Given the description of an element on the screen output the (x, y) to click on. 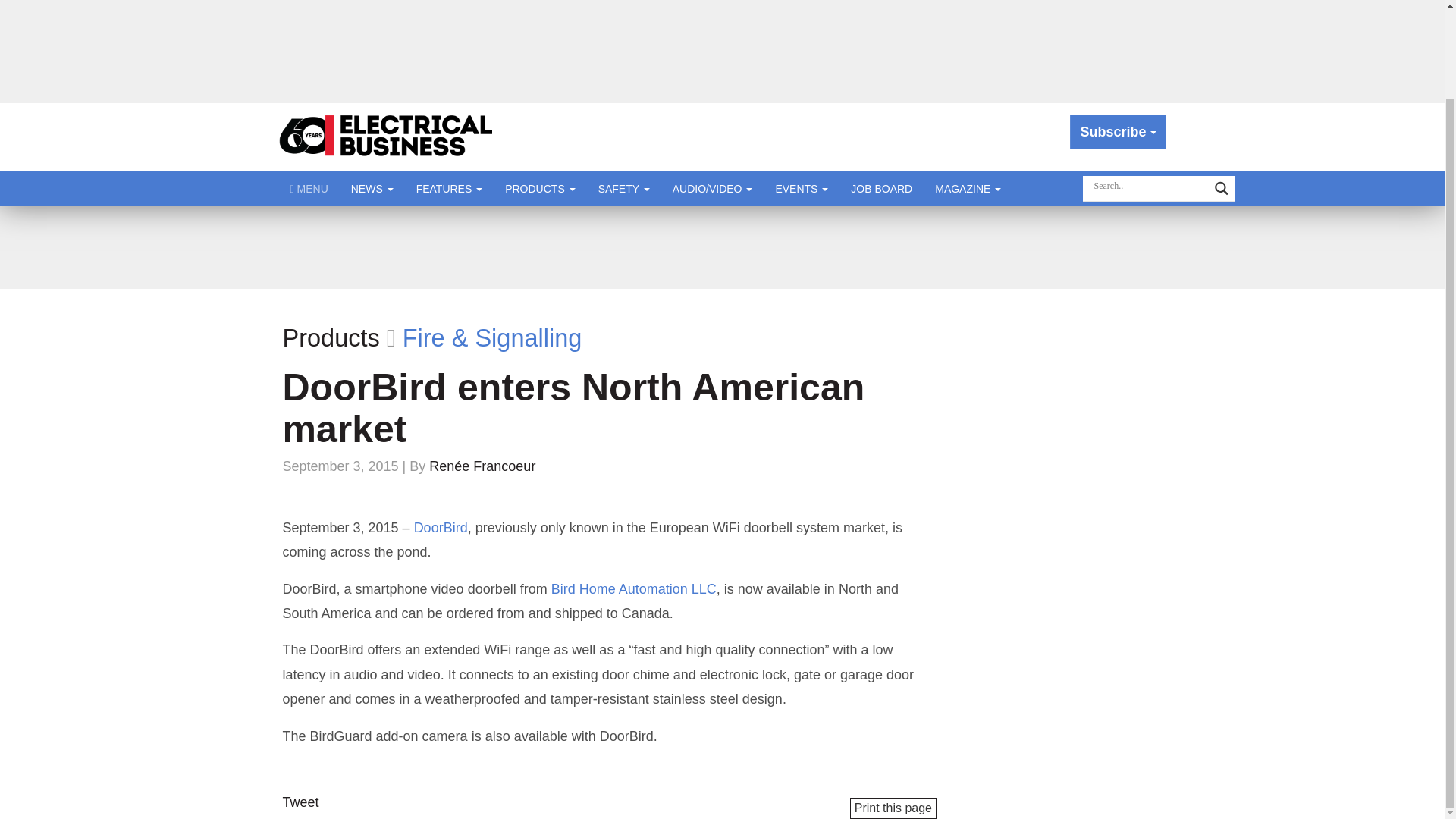
3rd party ad content (721, 246)
Click to show site navigation (309, 188)
MENU (309, 188)
Subscribe (1118, 131)
PRODUCTS (539, 188)
NEWS (371, 188)
Electrical Business (387, 136)
SAFETY (623, 188)
FEATURES (449, 188)
3rd party ad content (722, 47)
